Given the description of an element on the screen output the (x, y) to click on. 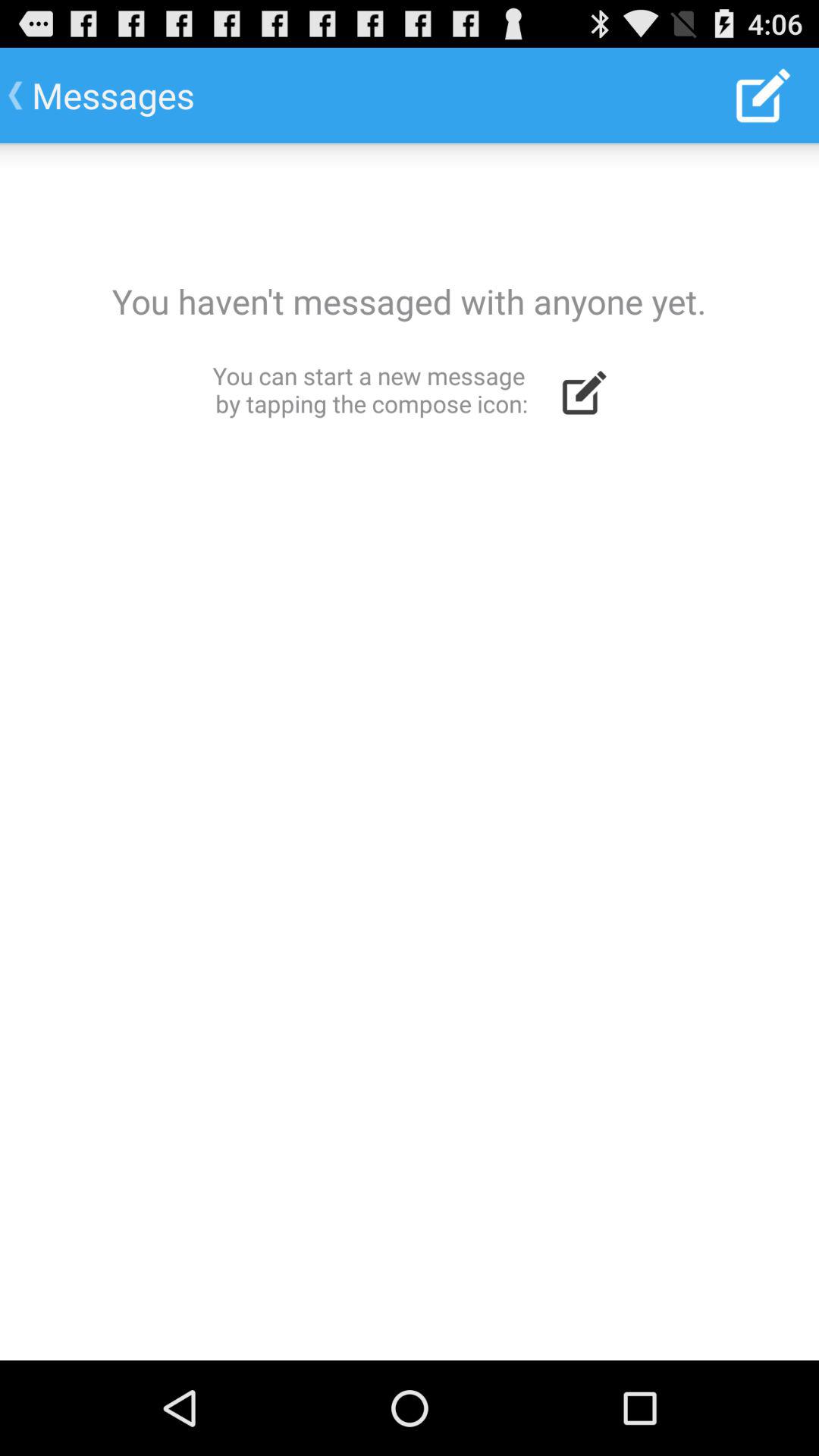
choose the item at the center (409, 751)
